Given the description of an element on the screen output the (x, y) to click on. 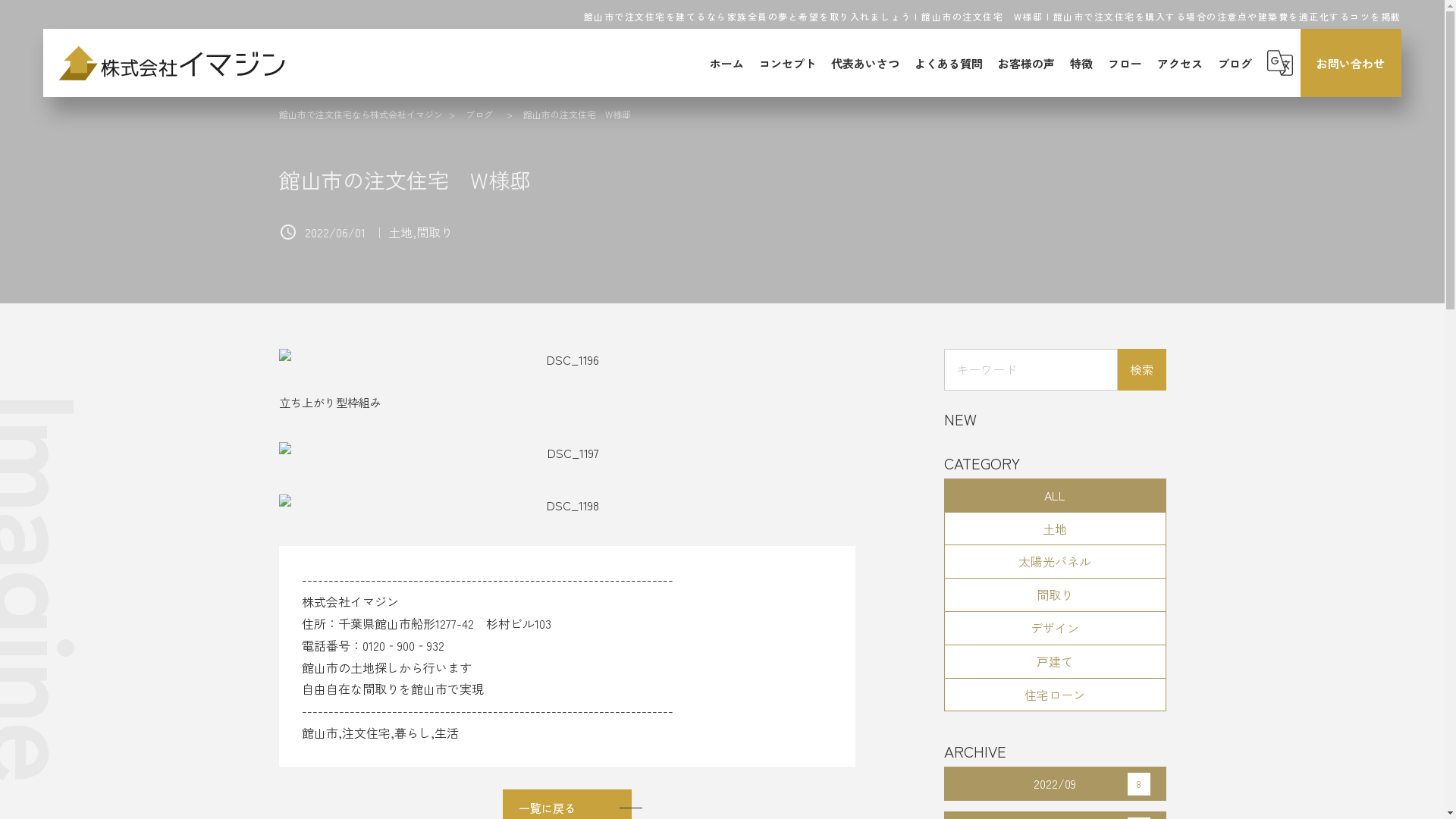
ALL Element type: text (1055, 495)
translate Element type: text (1279, 62)
2022/09
8 Element type: text (1055, 783)
